Given the description of an element on the screen output the (x, y) to click on. 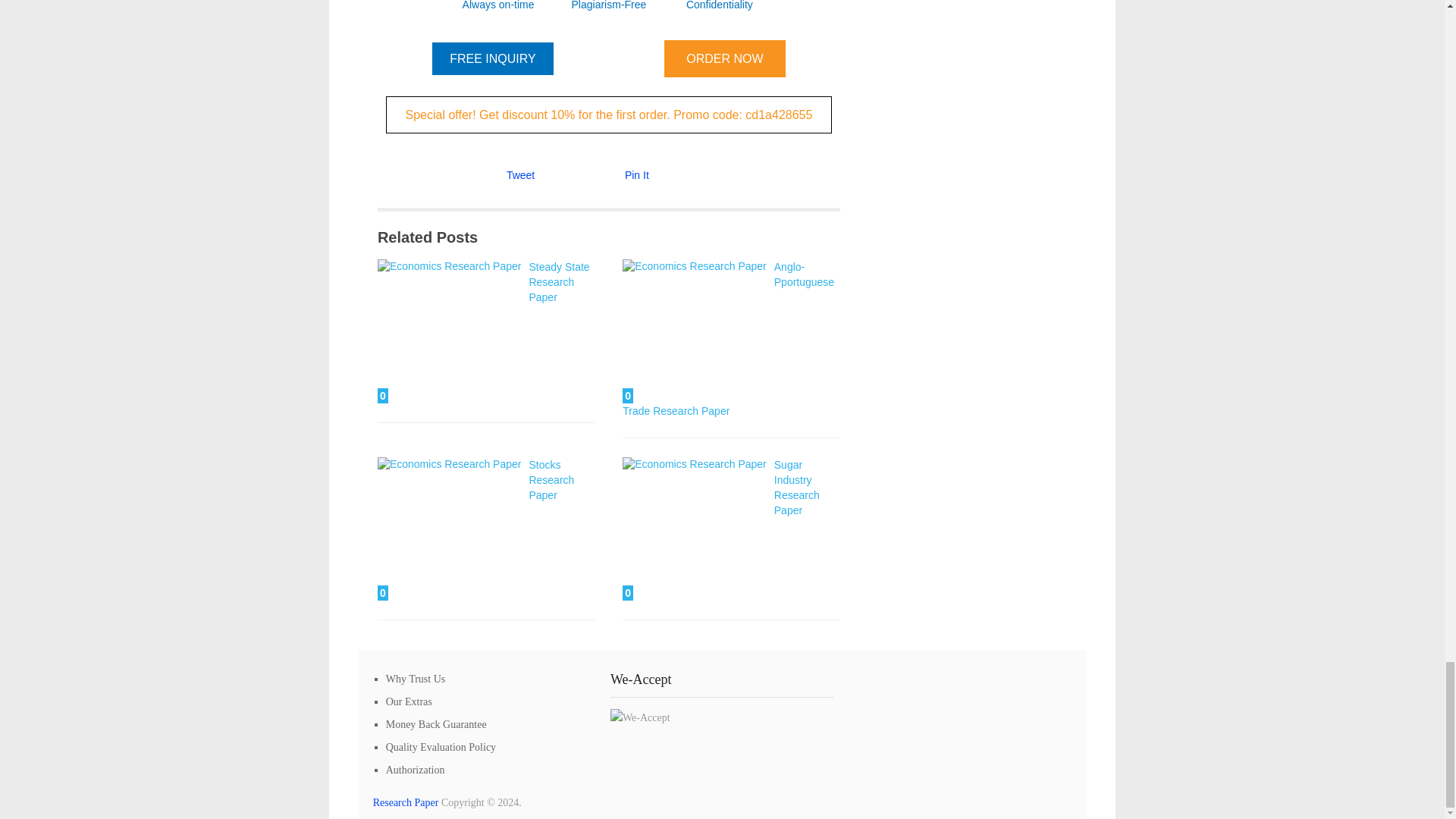
Anglo-Pportuguese Trade Research Paper (728, 338)
ORDER NOW (724, 58)
Steady State Research Paper (558, 282)
Tweet (520, 174)
Stocks Research Paper (550, 479)
Pin It (636, 174)
Steady State Research Paper (558, 282)
Stocks Research Paper (550, 479)
 Custom Writing Services (405, 802)
